Given the description of an element on the screen output the (x, y) to click on. 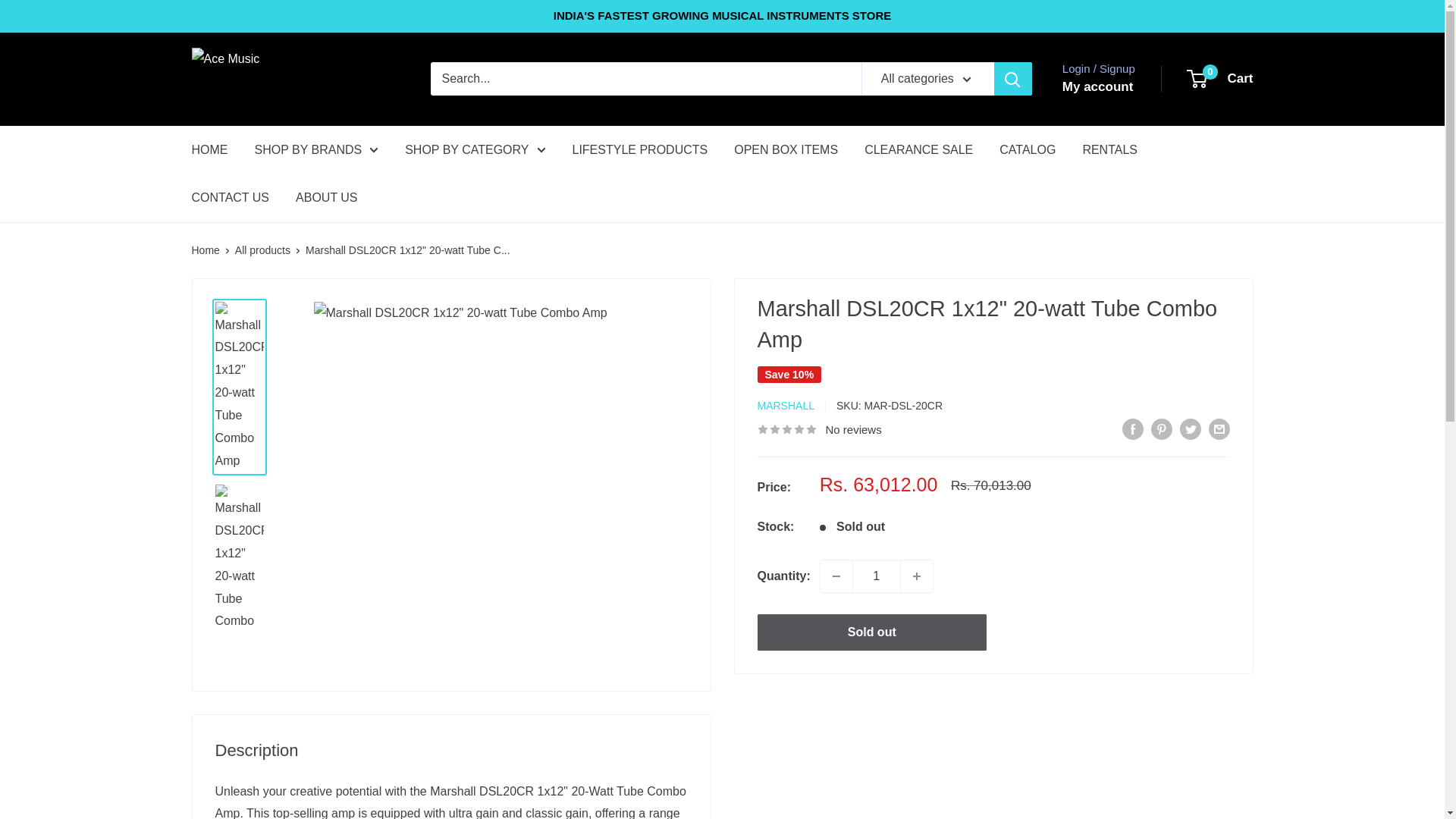
1 (876, 575)
Increase quantity by 1 (917, 575)
Decrease quantity by 1 (836, 575)
